Given the description of an element on the screen output the (x, y) to click on. 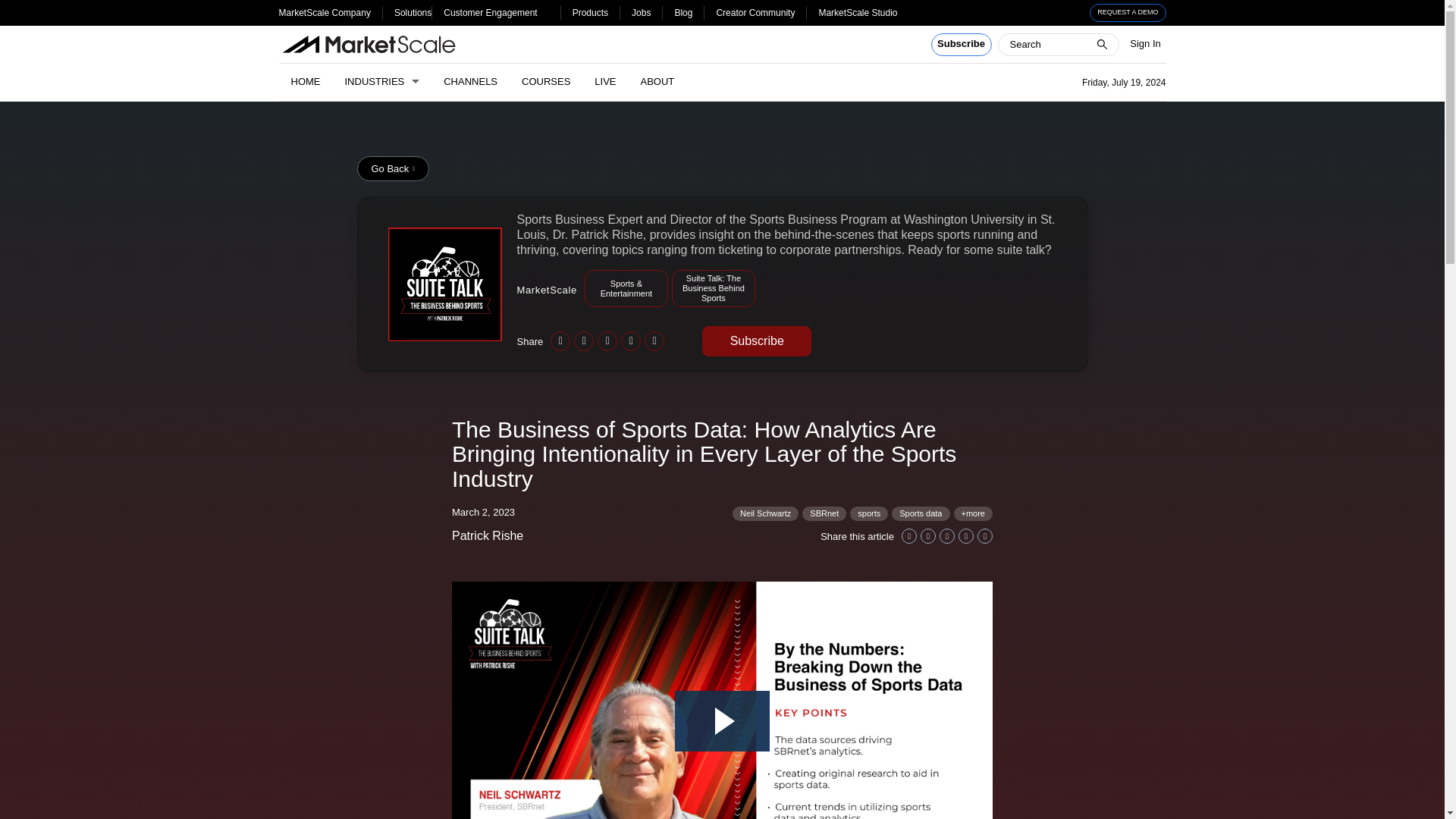
Copy Link (654, 341)
Share on Email (966, 535)
Share on Facebook (947, 535)
Products (590, 12)
Solutions (412, 12)
Share on Facebook (606, 341)
Share on X (583, 341)
Share on X (928, 535)
Blog (683, 12)
Jobs (640, 12)
Subscribe (961, 44)
MarketScale Company (325, 12)
Share on Linkedin (560, 341)
Customer Engagement (490, 12)
REQUEST A DEMO (1127, 13)
